Given the description of an element on the screen output the (x, y) to click on. 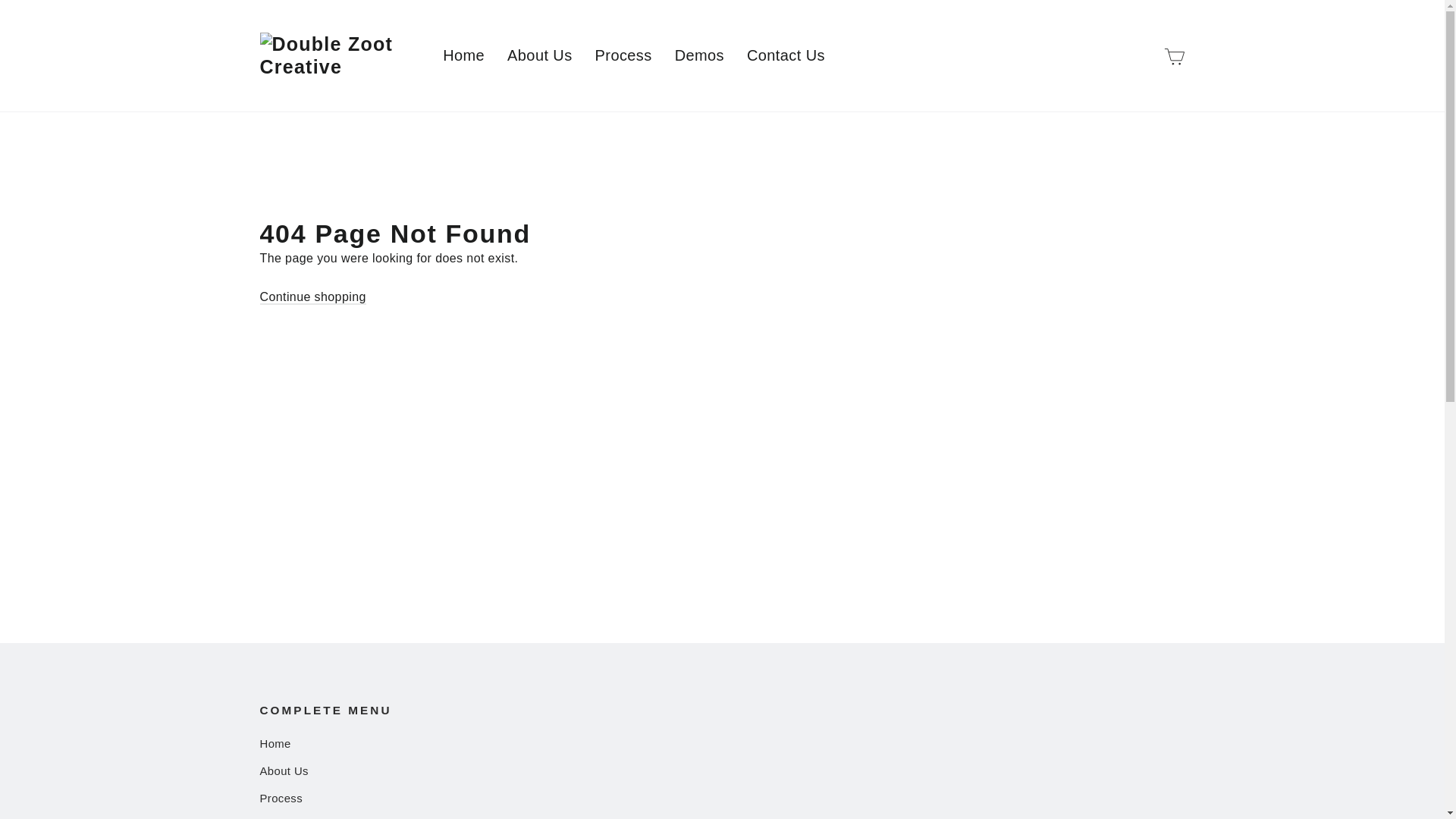
About Us (722, 771)
Home (722, 744)
Home (463, 55)
Contact Us (785, 55)
Process (623, 55)
About Us (539, 55)
Process (722, 799)
Cart (1173, 55)
